Given the description of an element on the screen output the (x, y) to click on. 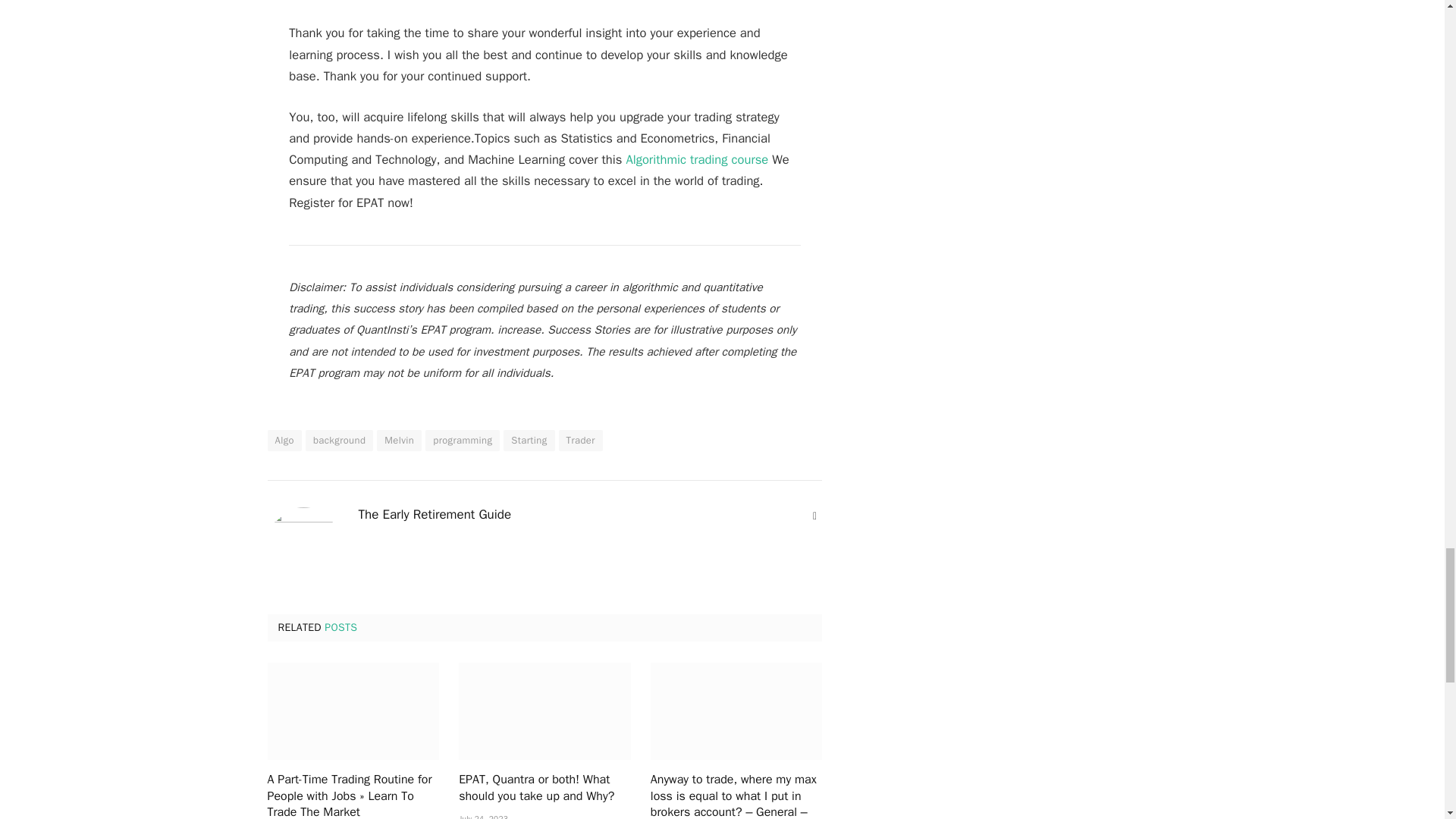
Posts by The Early Retirement Guide (434, 514)
EPAT, Quantra or both! What should you take up and Why? (544, 710)
Algorithmic trading course (697, 159)
Website (814, 516)
Algo (283, 440)
